Given the description of an element on the screen output the (x, y) to click on. 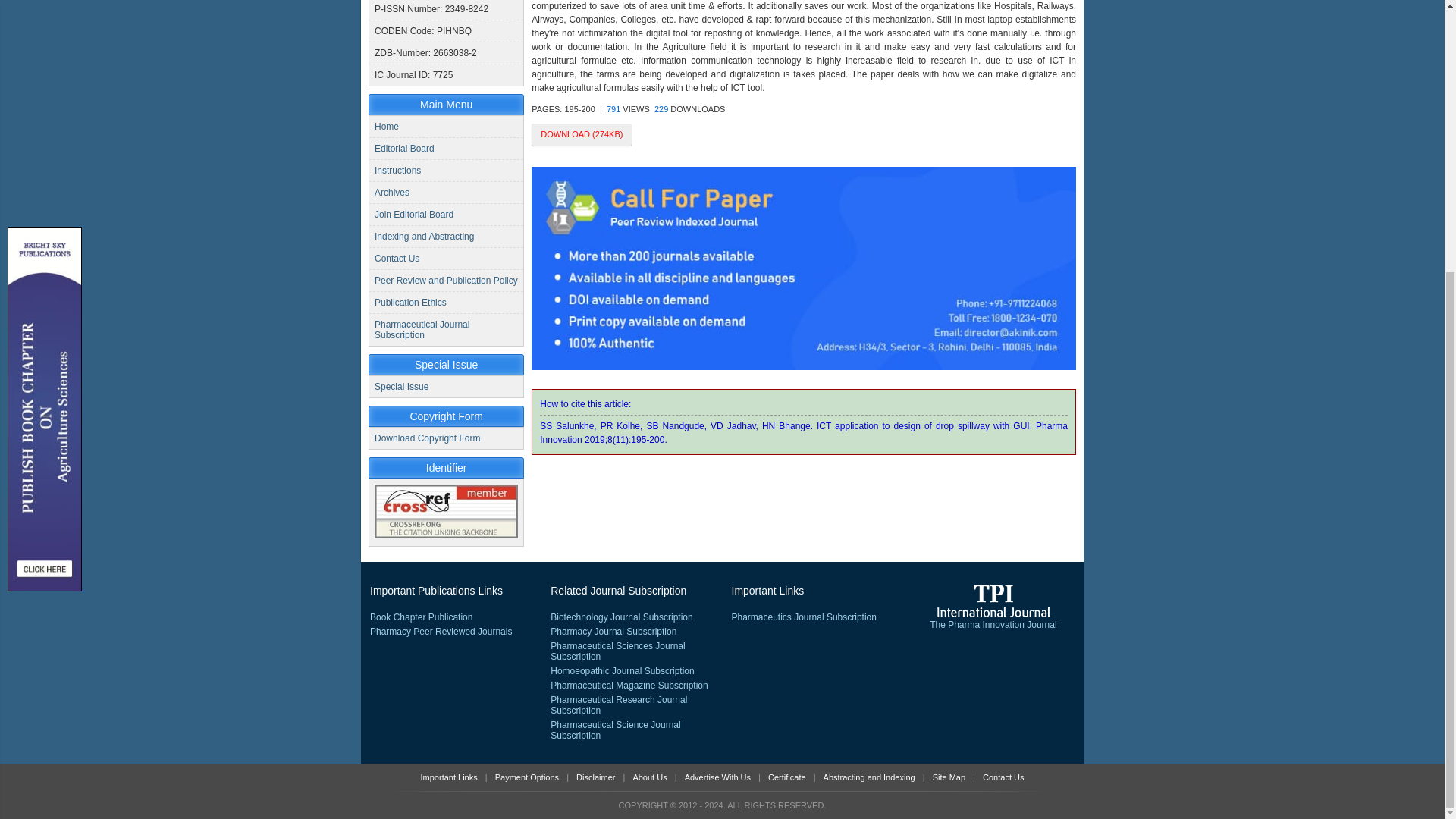
Instructions (397, 170)
Special Issue (401, 386)
Archives (391, 192)
Publication Ethics (410, 302)
Download Copyright Form (427, 438)
Pharmaceutical Journal Subscription (421, 329)
Peer Review and Publication Policy (446, 280)
Editorial Board (403, 148)
Indexing and Abstracting (424, 235)
Join Editorial Board (413, 214)
Home (386, 126)
Contact Us (396, 258)
